Given the description of an element on the screen output the (x, y) to click on. 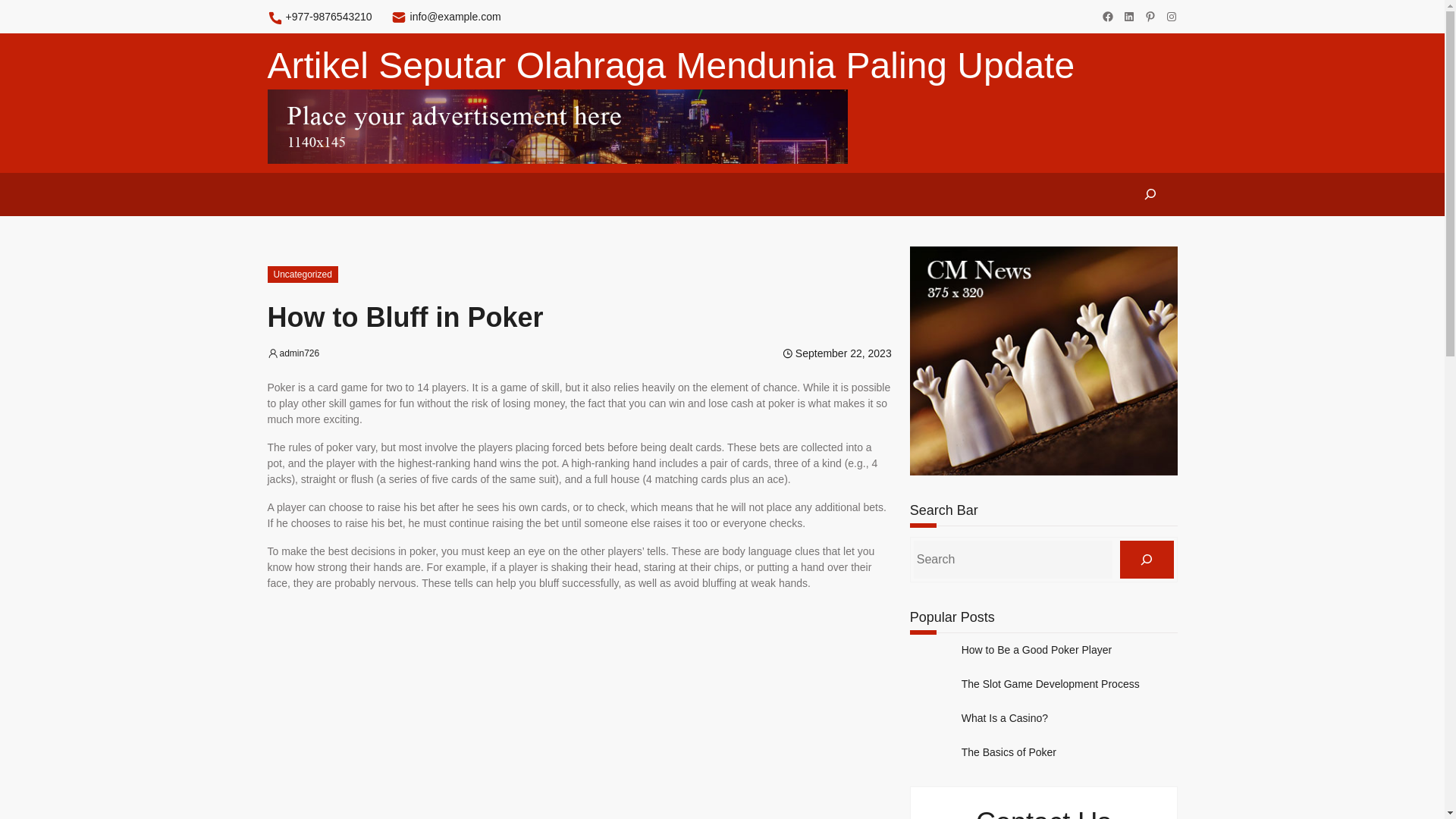
Instagram (1170, 16)
How to Be a Good Poker Player (1036, 649)
Uncategorized (301, 274)
Artikel Seputar Olahraga Mendunia Paling Update (670, 65)
Pinterest (1149, 16)
What Is a Casino? (1004, 717)
The Slot Game Development Process (1050, 684)
LinkedIn (1128, 16)
Facebook (1106, 16)
The Basics of Poker (1008, 752)
